Given the description of an element on the screen output the (x, y) to click on. 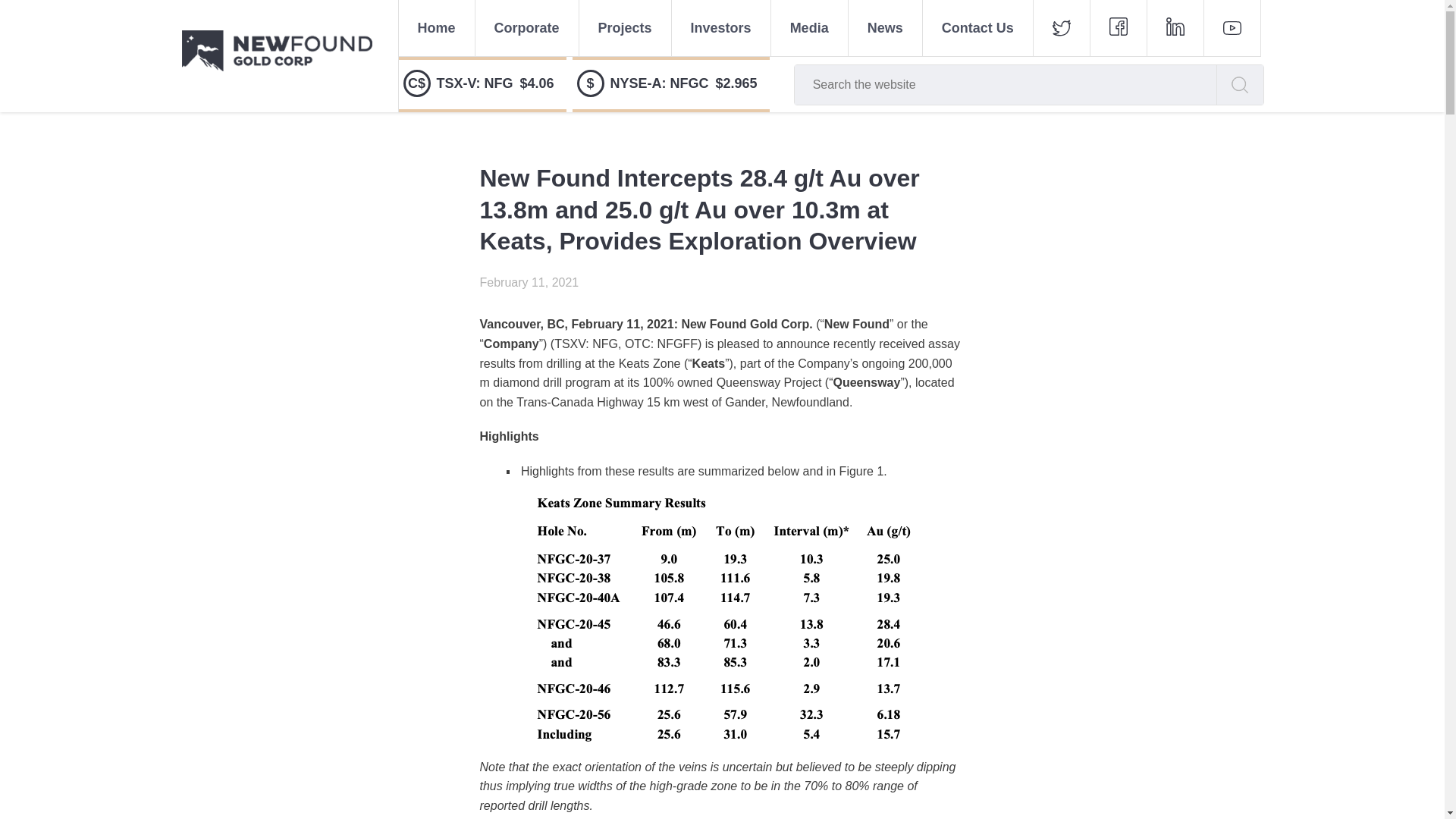
News (884, 27)
Investors (720, 27)
Corporate (527, 27)
Projects (625, 27)
Home (435, 27)
Contact Us (977, 27)
Media (809, 27)
